Given the description of an element on the screen output the (x, y) to click on. 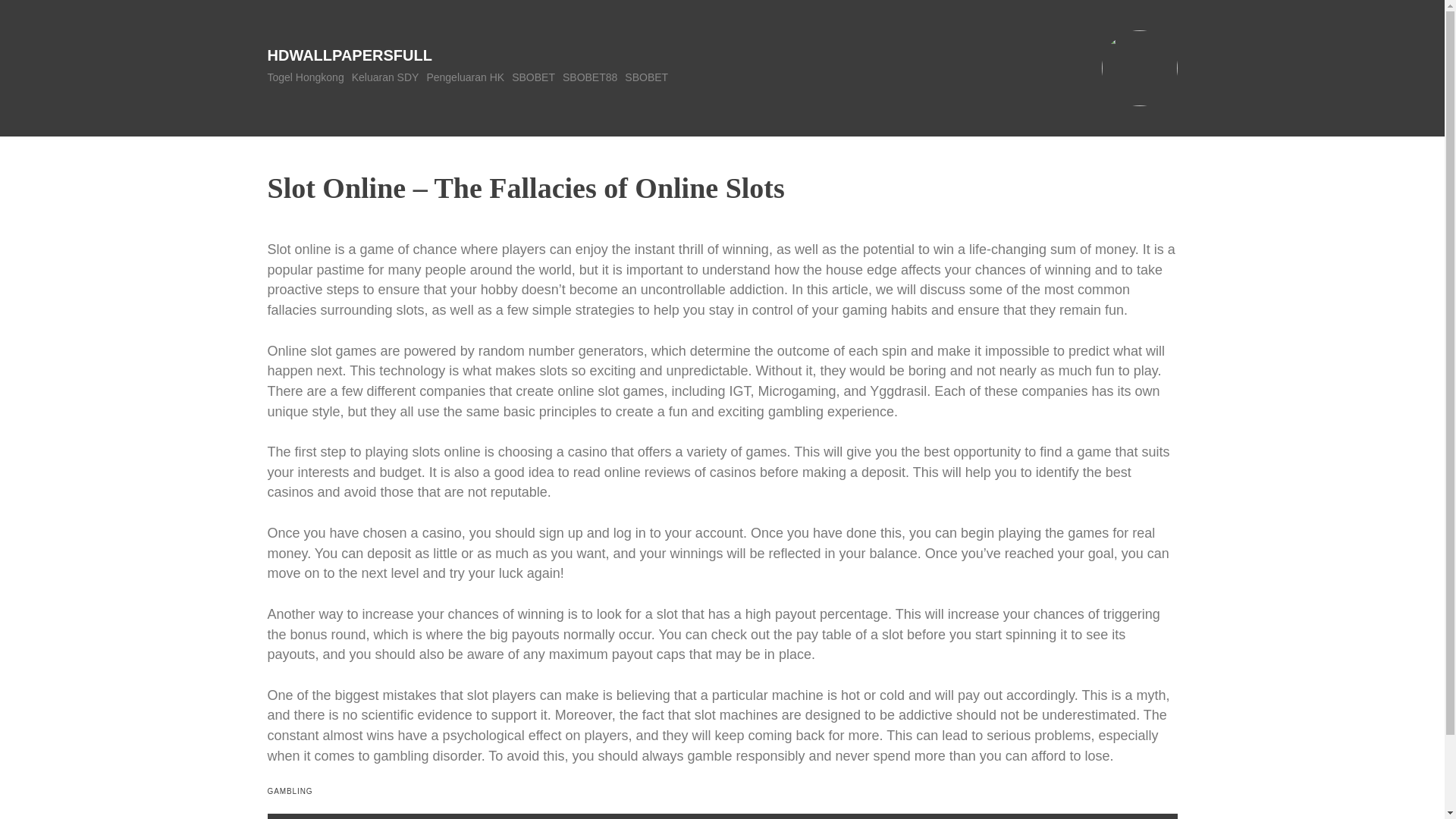
Pengeluaran HK (464, 77)
HDWALLPAPERSFULL (348, 54)
Keluaran SDY (385, 77)
SBOBET (646, 77)
GAMBLING (289, 791)
SBOBET (533, 77)
hdwallpapersfull (348, 54)
SBOBET88 (589, 77)
Togel Hongkong (304, 77)
